Given the description of an element on the screen output the (x, y) to click on. 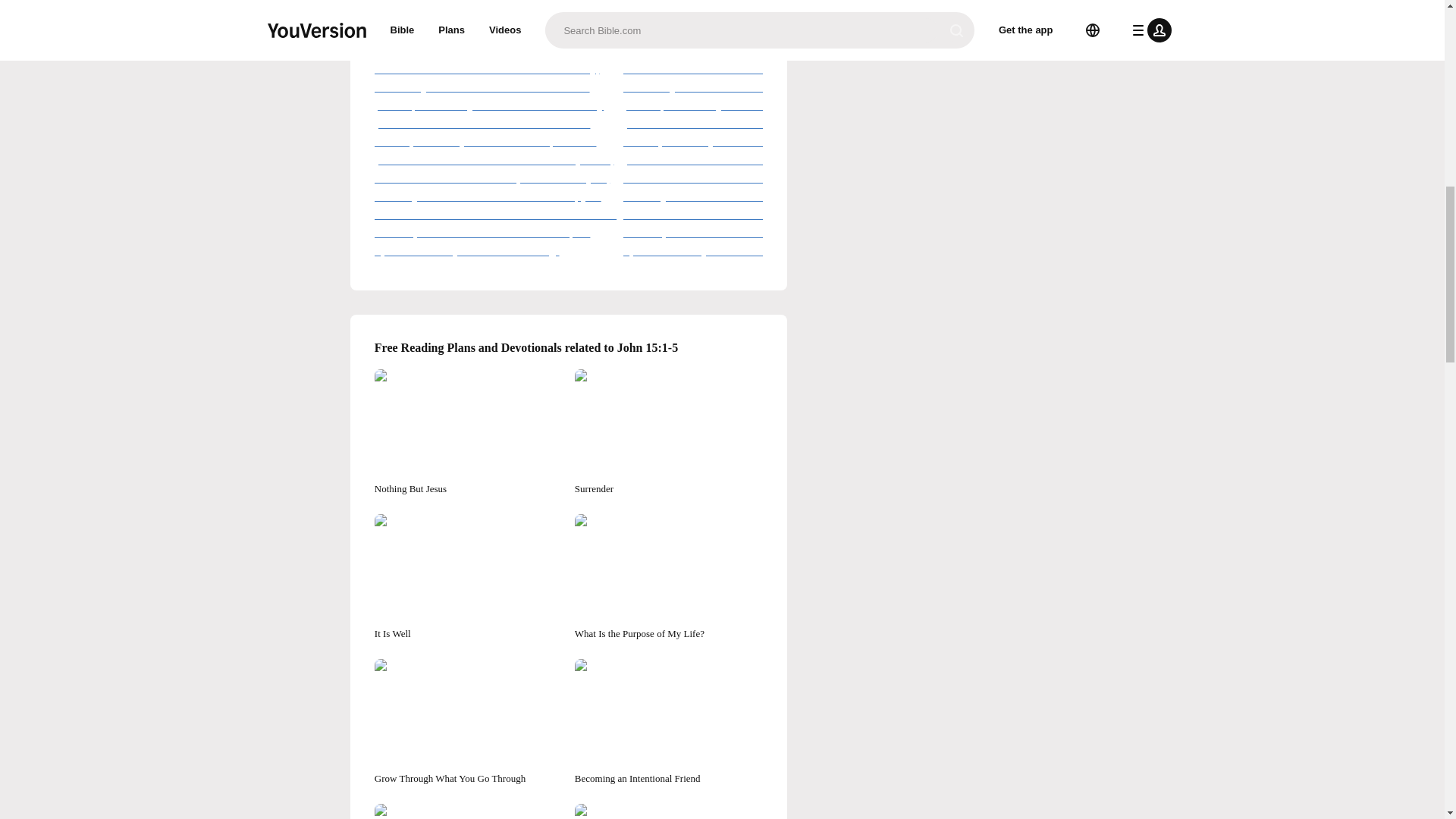
Nothing But Jesus (468, 432)
It Is Well (468, 577)
What If (468, 811)
Surrender (668, 432)
Verse Images for John 15:1-5 (568, 5)
Grow Through What You Go Through (468, 722)
What Is the Purpose of My Life? (668, 577)
You Are Loved (668, 811)
Becoming an Intentional Friend (668, 722)
